Given the description of an element on the screen output the (x, y) to click on. 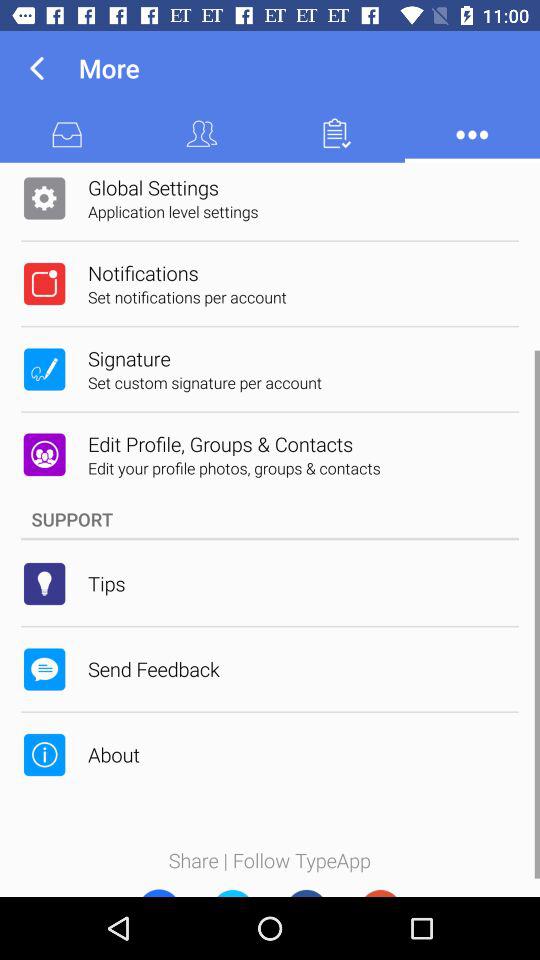
scroll until share | follow typeapp (269, 860)
